Given the description of an element on the screen output the (x, y) to click on. 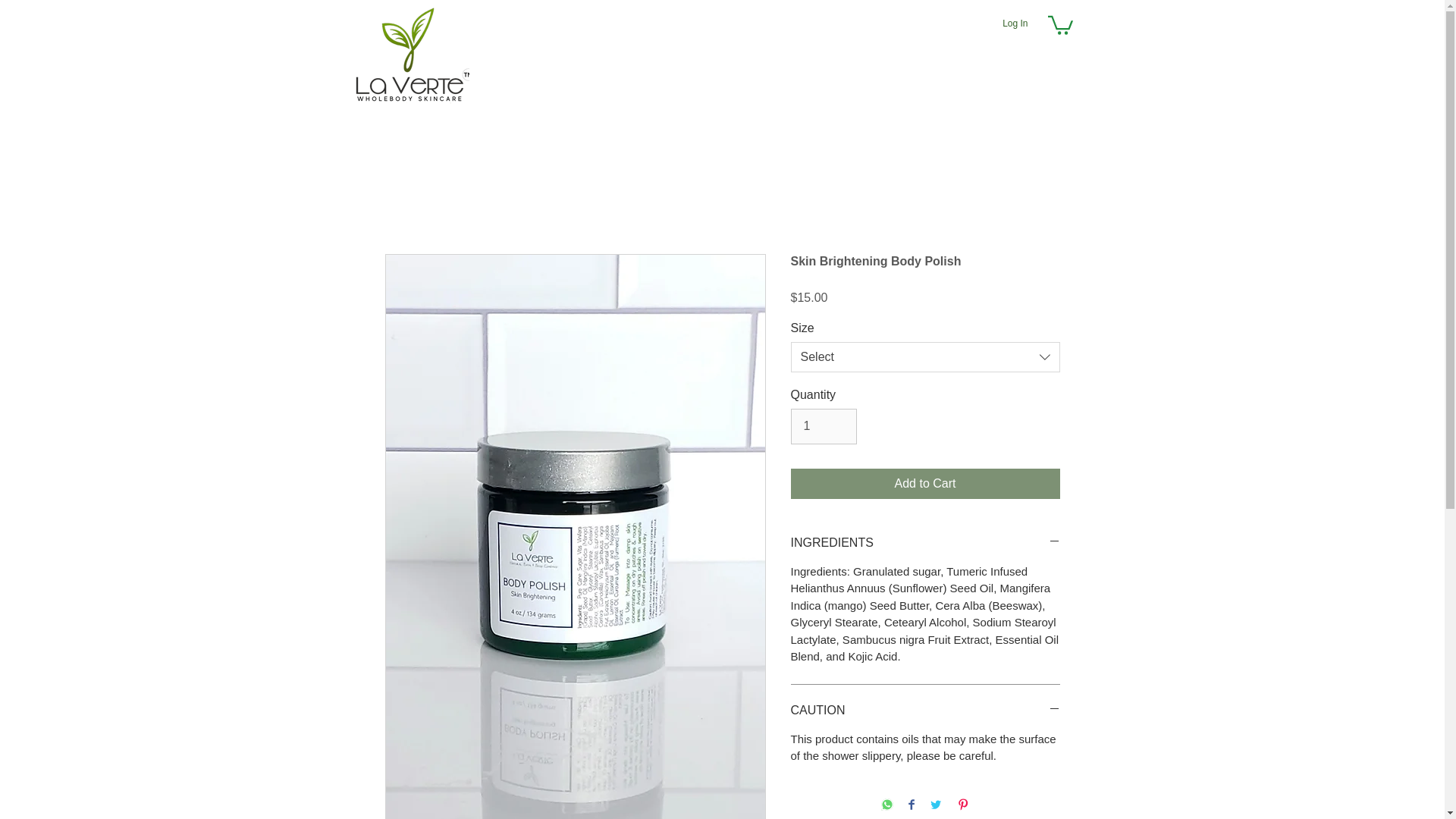
INGREDIENTS (924, 542)
1 (823, 425)
Select (924, 357)
Log In (1014, 24)
Add to Cart (924, 483)
CAUTION (924, 710)
